Given the description of an element on the screen output the (x, y) to click on. 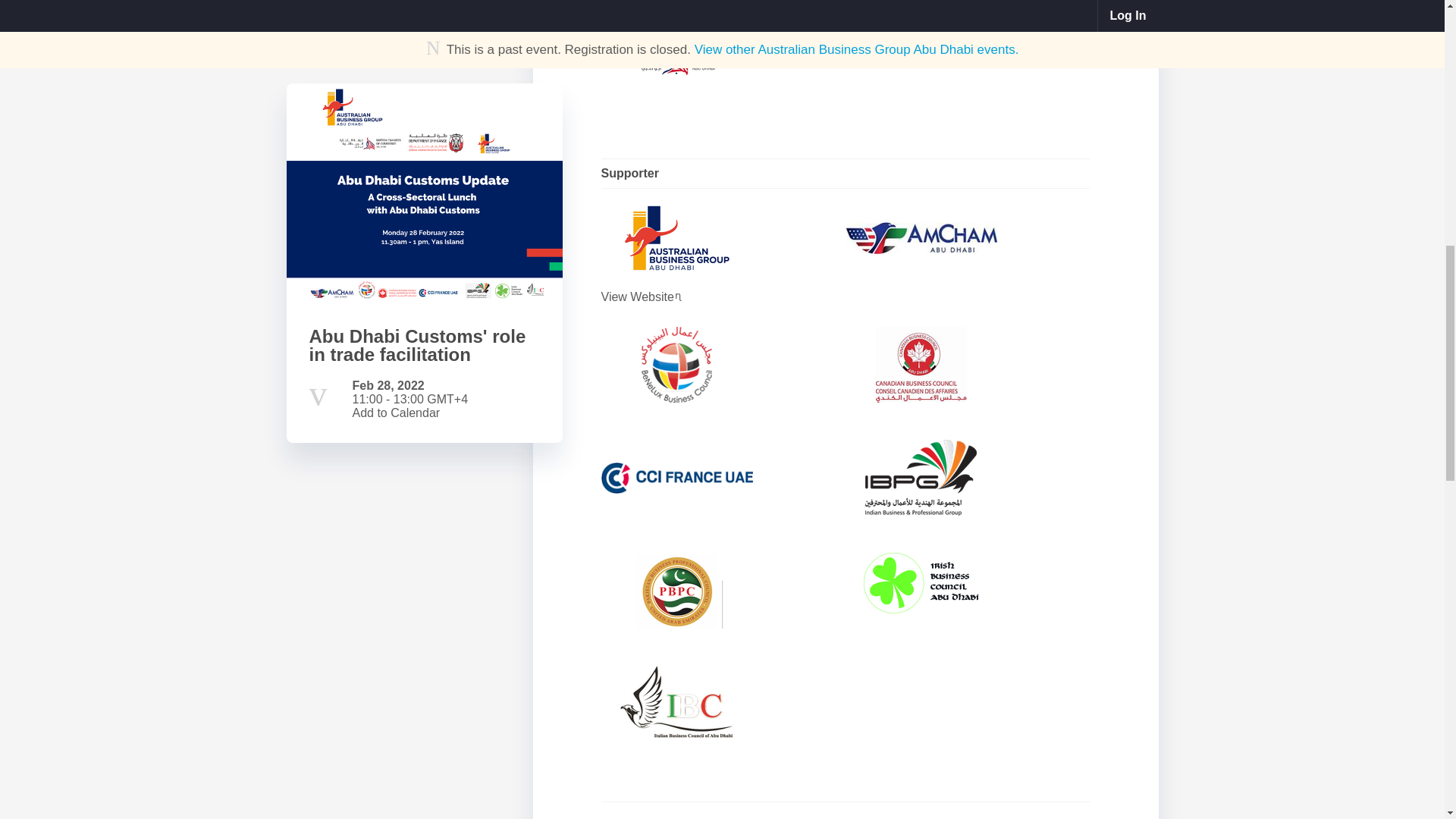
View Website (722, 296)
Open in new tab (679, 296)
